Given the description of an element on the screen output the (x, y) to click on. 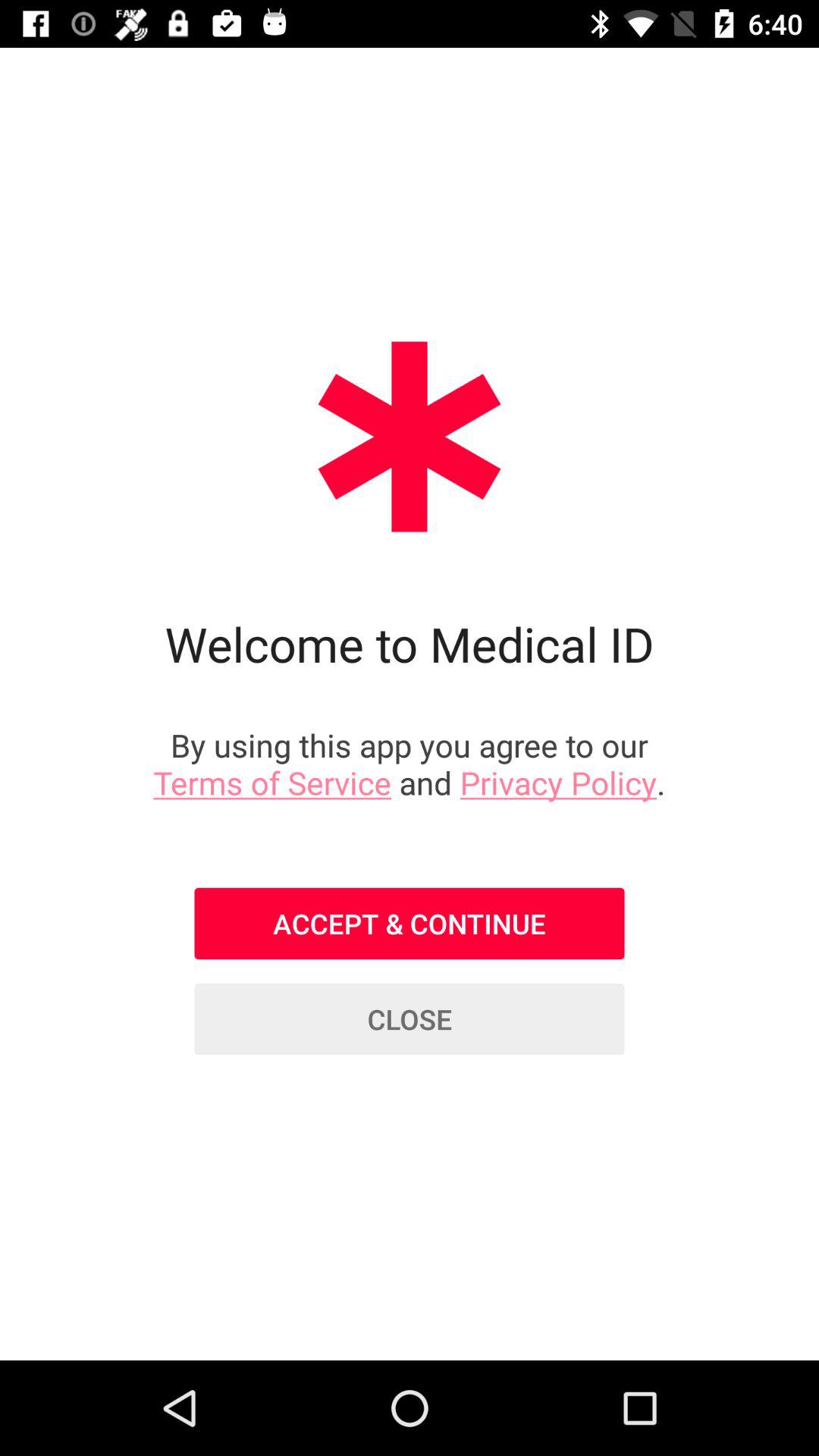
select item below the by using this item (409, 923)
